Given the description of an element on the screen output the (x, y) to click on. 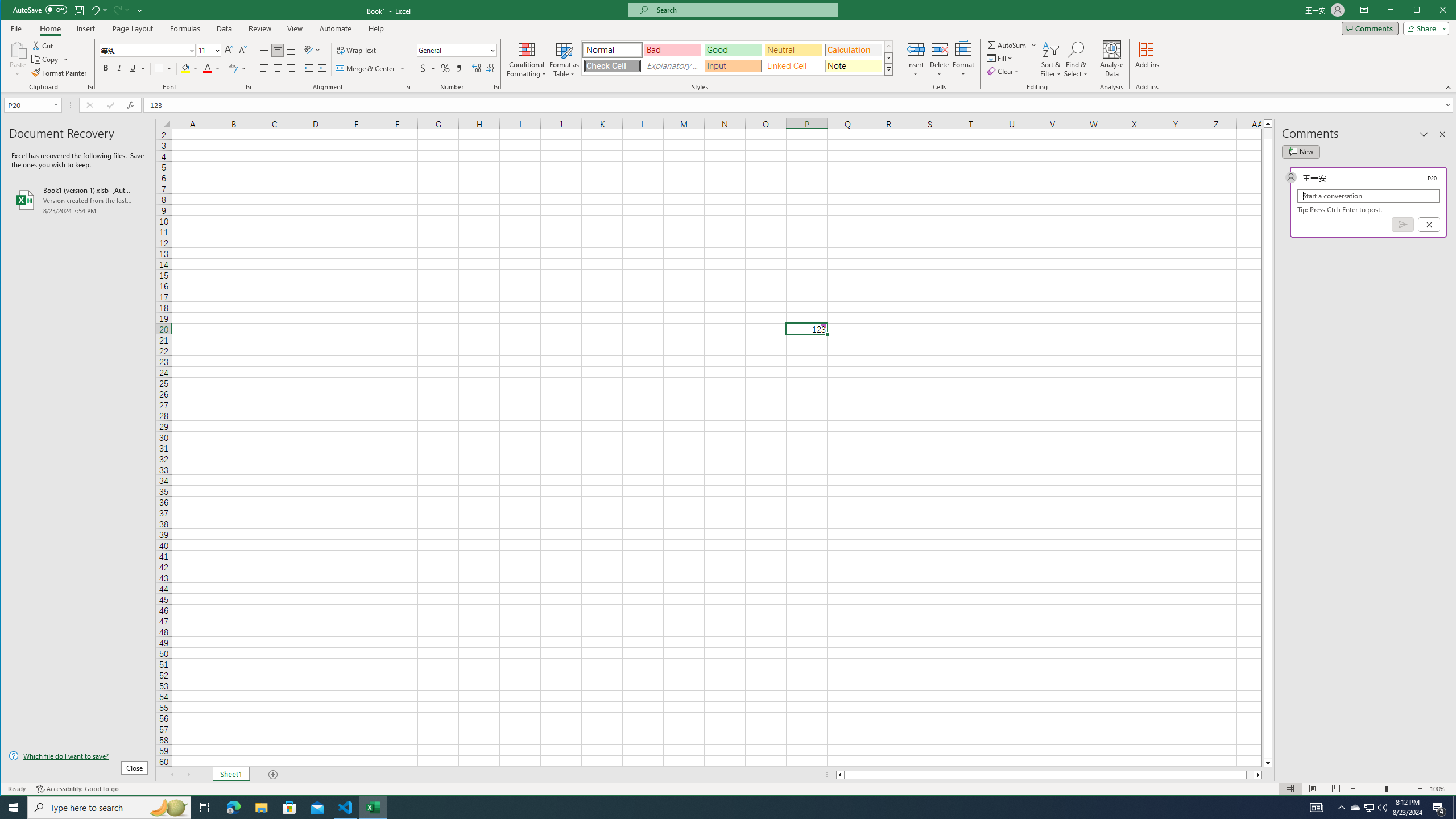
Wrap Text (356, 49)
Maximize (1432, 11)
Show Phonetic Field (233, 68)
Copy (45, 59)
Delete (939, 59)
Post comment (Ctrl + Enter) (1402, 224)
Number Format (453, 50)
Find & Select (1075, 59)
Microsoft Edge (233, 807)
